Given the description of an element on the screen output the (x, y) to click on. 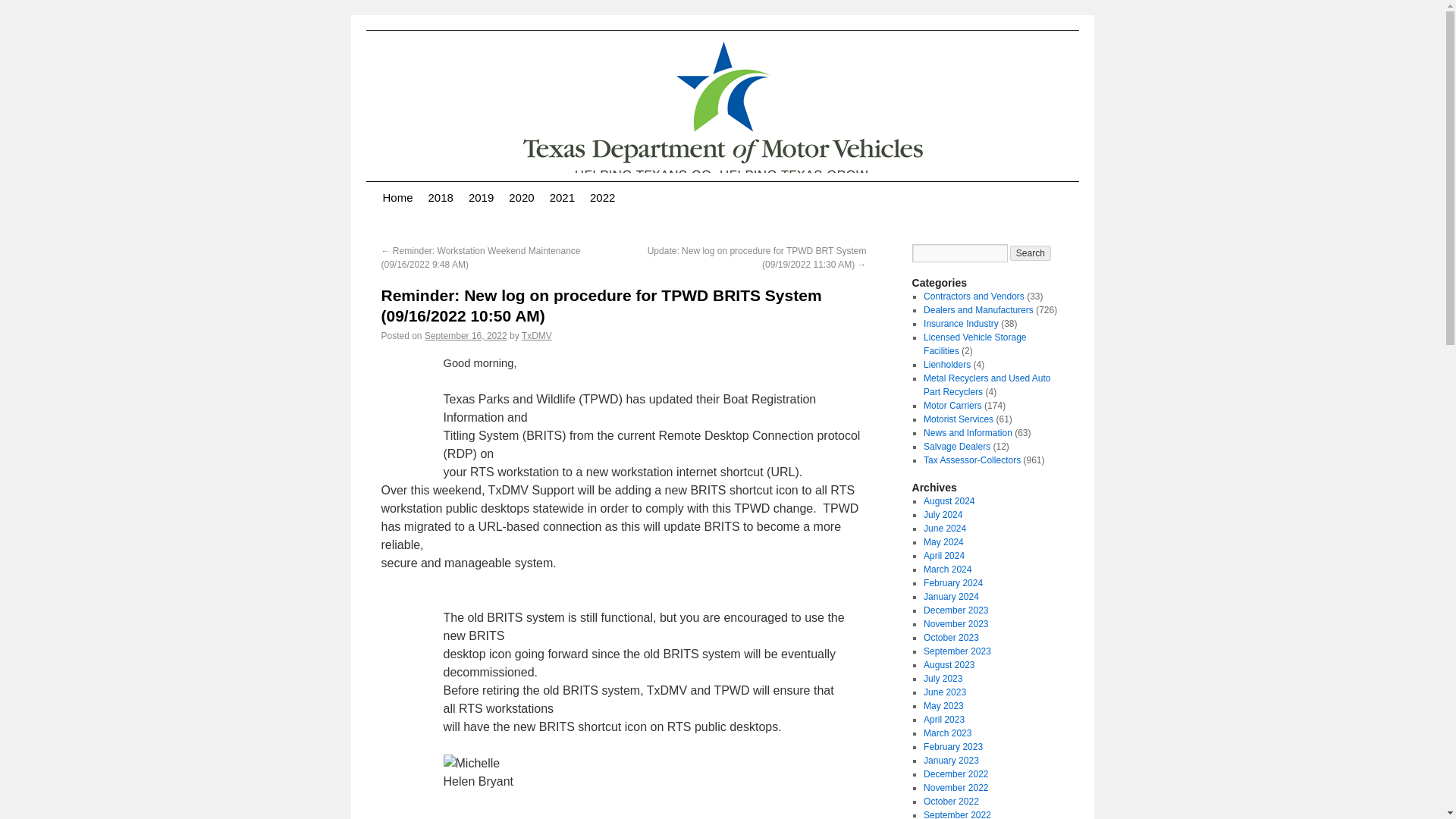
September 16, 2022 (465, 335)
May 2024 (943, 542)
December 2023 (955, 610)
June 2024 (944, 528)
Salvage Dealers (956, 446)
Motorist Services (957, 419)
2022 (602, 197)
Metal Recyclers and Used Auto Part Recyclers (986, 385)
Lienholders (947, 364)
2018 (440, 197)
